Given the description of an element on the screen output the (x, y) to click on. 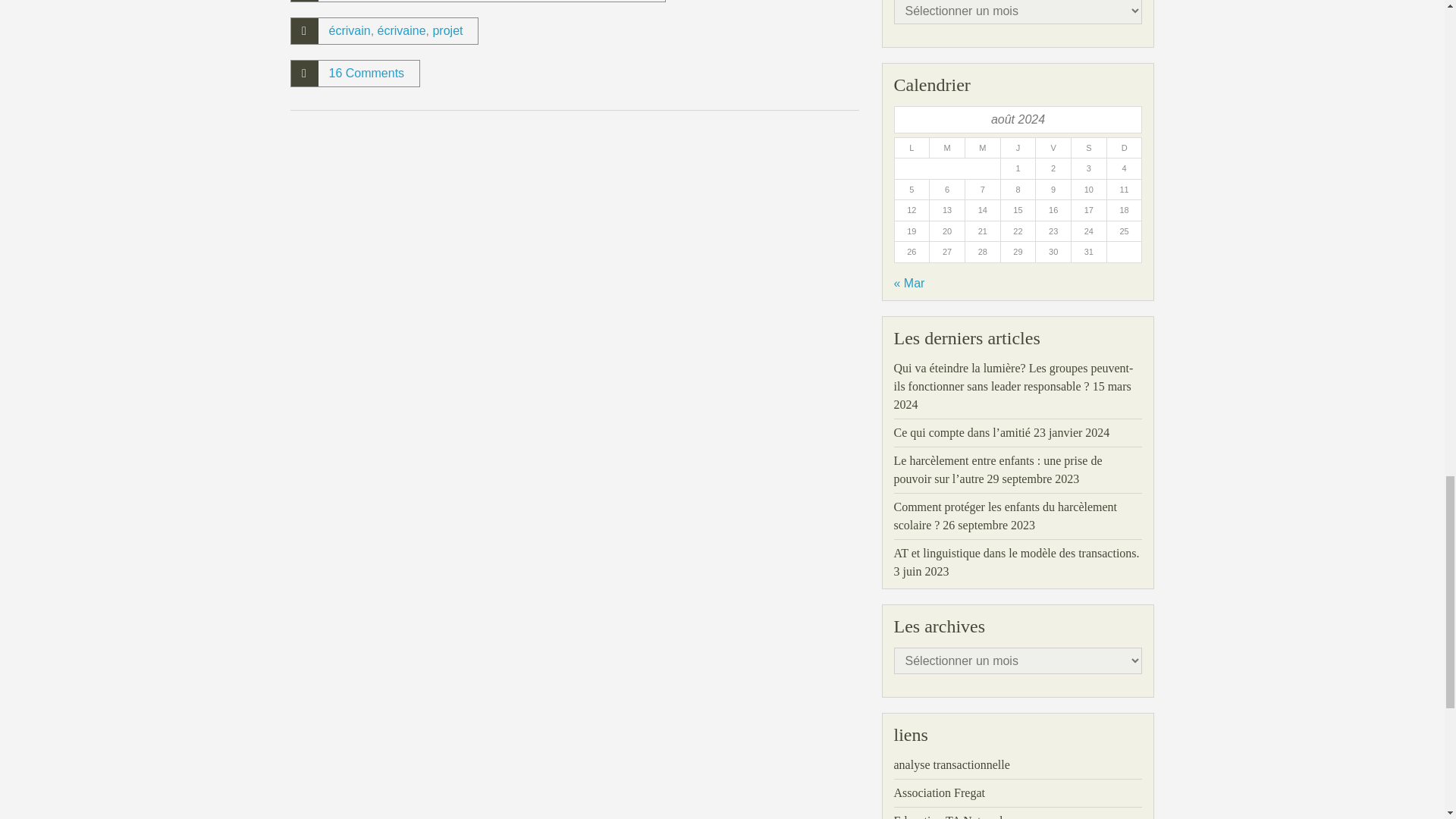
projet (447, 30)
mercredi (981, 148)
16 Comments (366, 72)
mardi (945, 148)
samedi (1088, 148)
lundi (910, 148)
jeudi (1017, 148)
vendredi (1052, 148)
dimanche (1123, 148)
